Given the description of an element on the screen output the (x, y) to click on. 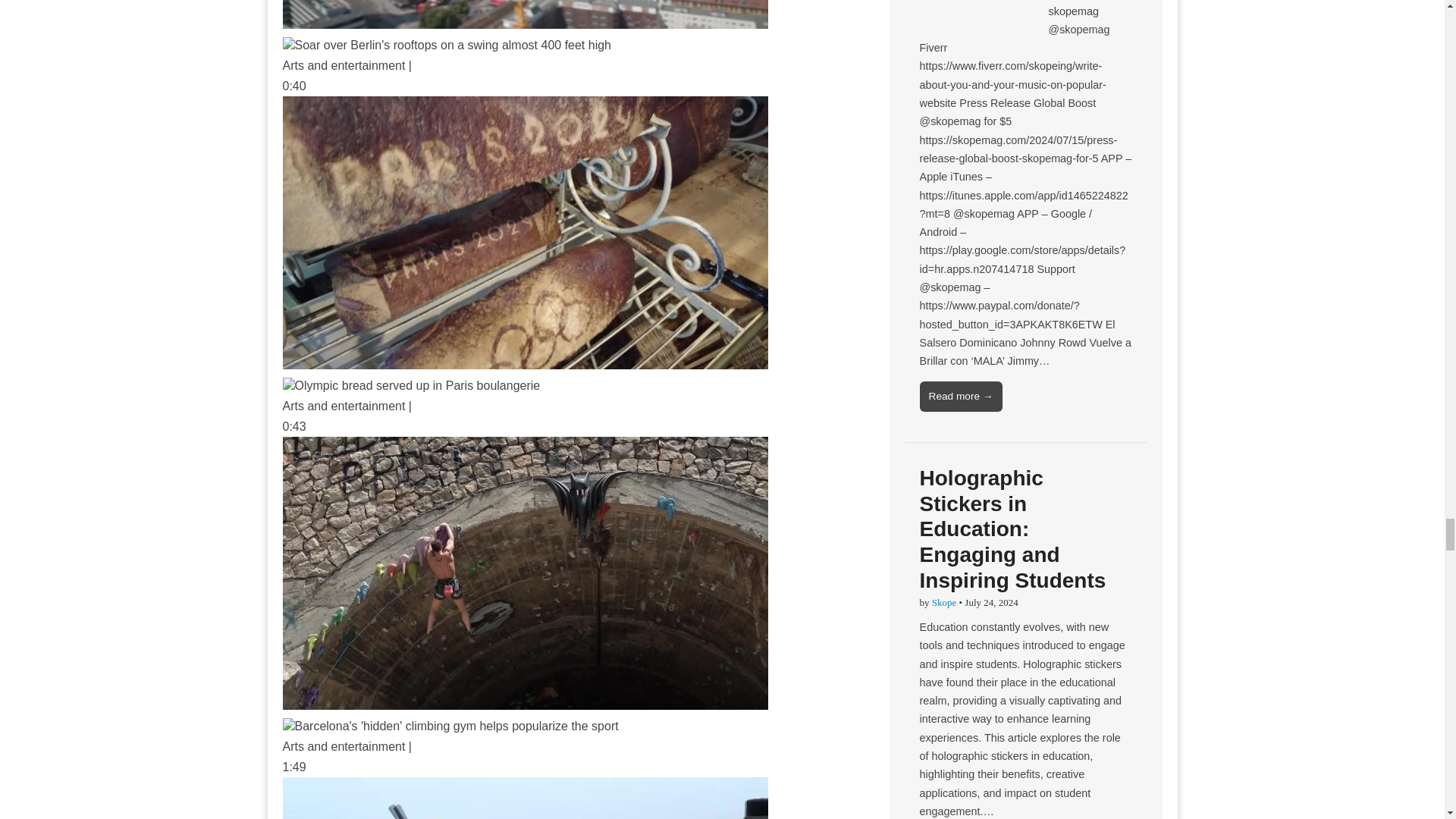
Posts by Skope (943, 602)
